Given the description of an element on the screen output the (x, y) to click on. 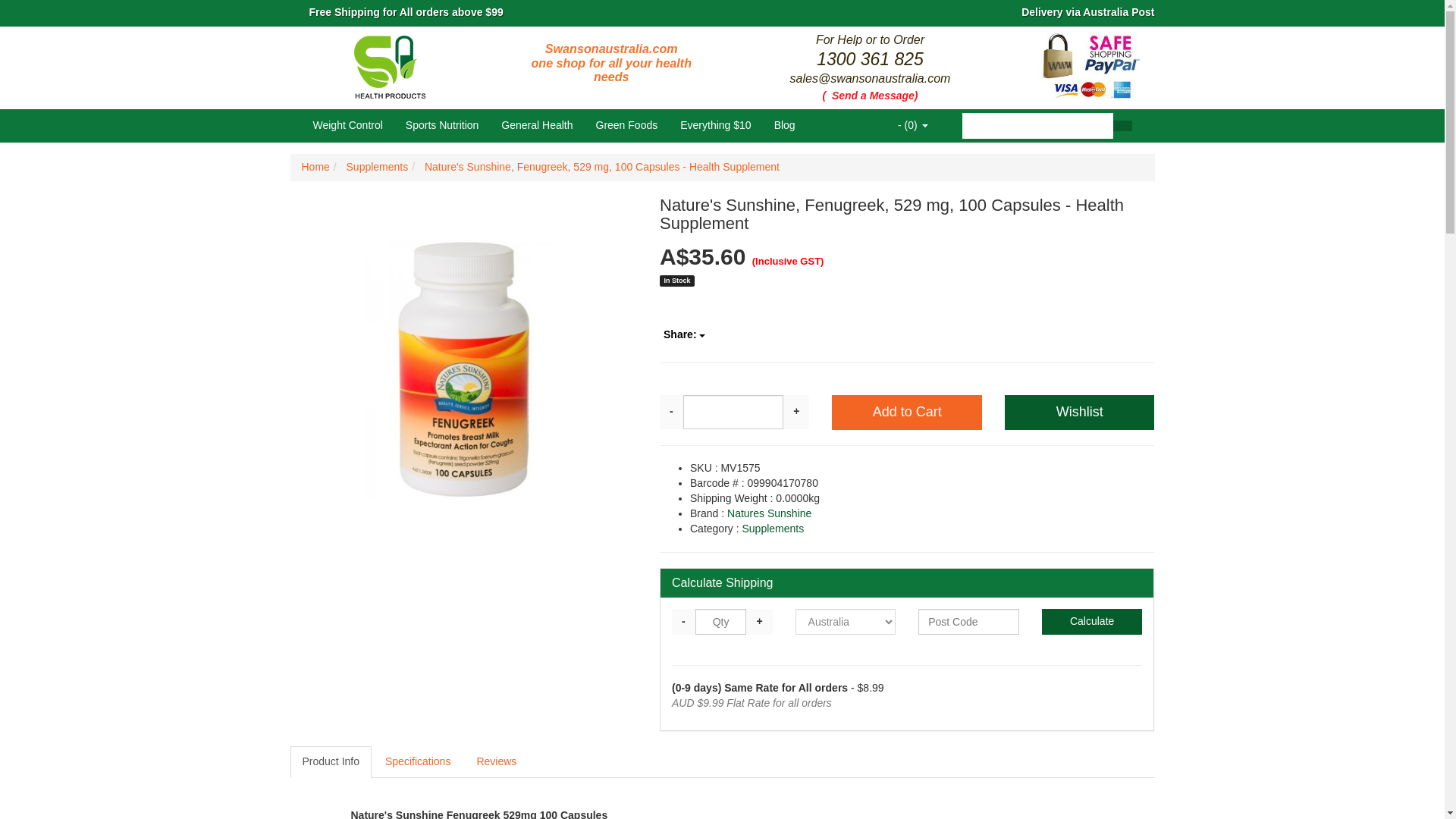
1300 361 825 (869, 58)
General Health (536, 124)
Sports Nutrition (441, 124)
Green Foods (625, 124)
Weight Control (347, 124)
Reviews (496, 762)
Home (315, 166)
Natures Sunshine (768, 512)
- (683, 621)
Share: (684, 331)
Search (1121, 125)
Wishlist (1079, 411)
Specifications (417, 762)
Product Info (330, 762)
